Given the description of an element on the screen output the (x, y) to click on. 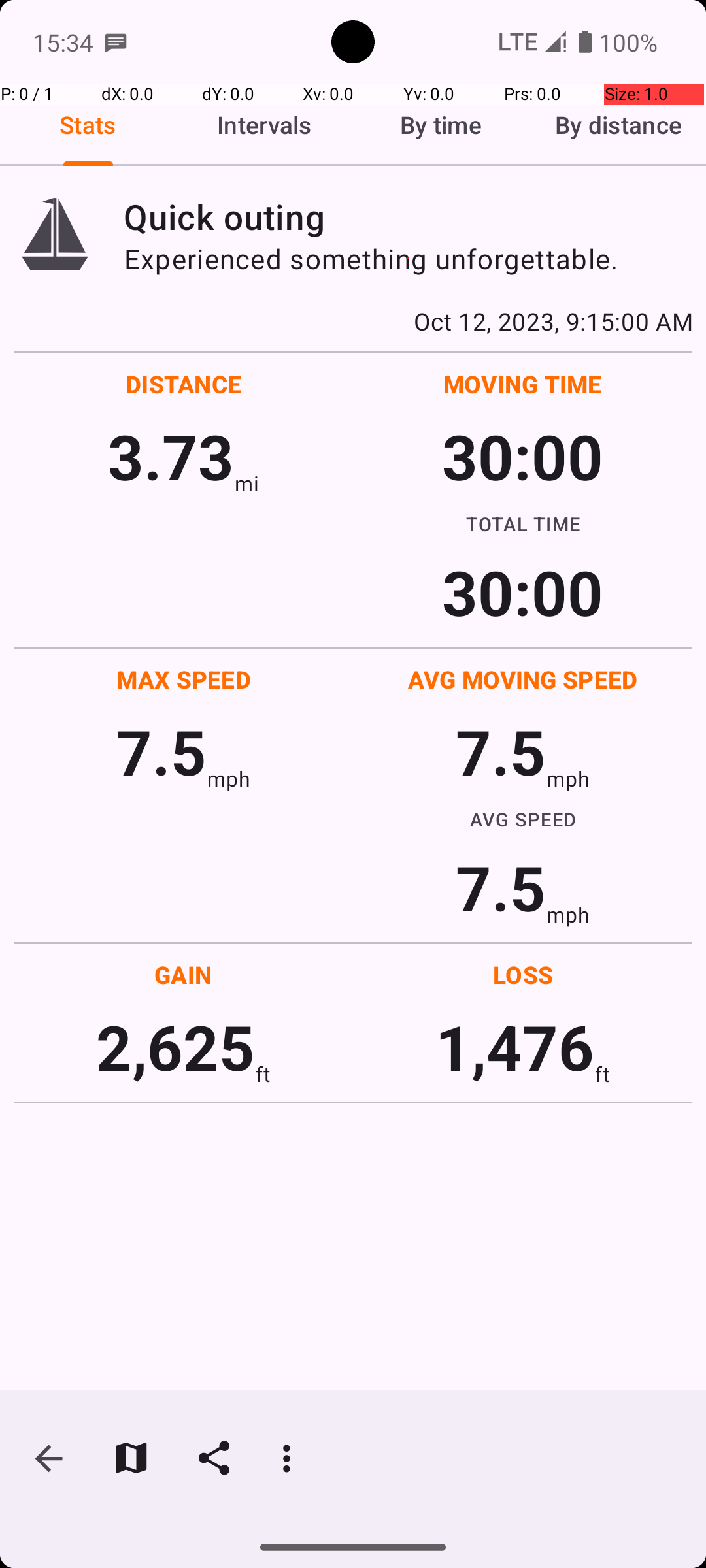
Quick outing Element type: android.widget.TextView (407, 216)
Experienced something unforgettable. Element type: android.widget.TextView (407, 258)
Oct 12, 2023, 9:15:00 AM Element type: android.widget.TextView (352, 320)
3.73 Element type: android.widget.TextView (170, 455)
30:00 Element type: android.widget.TextView (522, 455)
7.5 Element type: android.widget.TextView (161, 750)
2,625 Element type: android.widget.TextView (175, 1045)
1,476 Element type: android.widget.TextView (514, 1045)
